Given the description of an element on the screen output the (x, y) to click on. 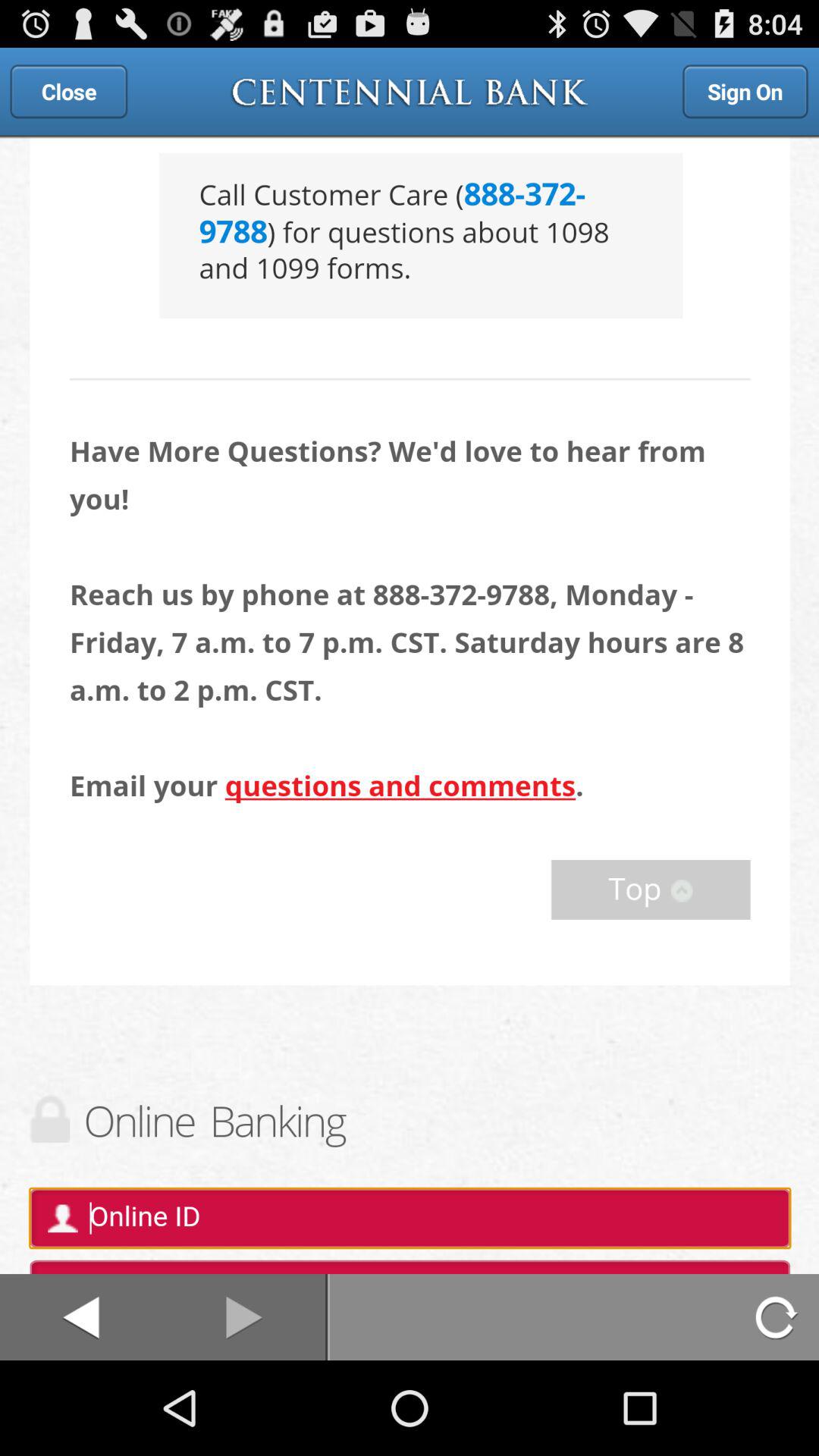
click on text beside close button (409, 91)
select the refresh button at the bottom of the page (777, 1317)
select the first button which is below online id (80, 1317)
